Given the description of an element on the screen output the (x, y) to click on. 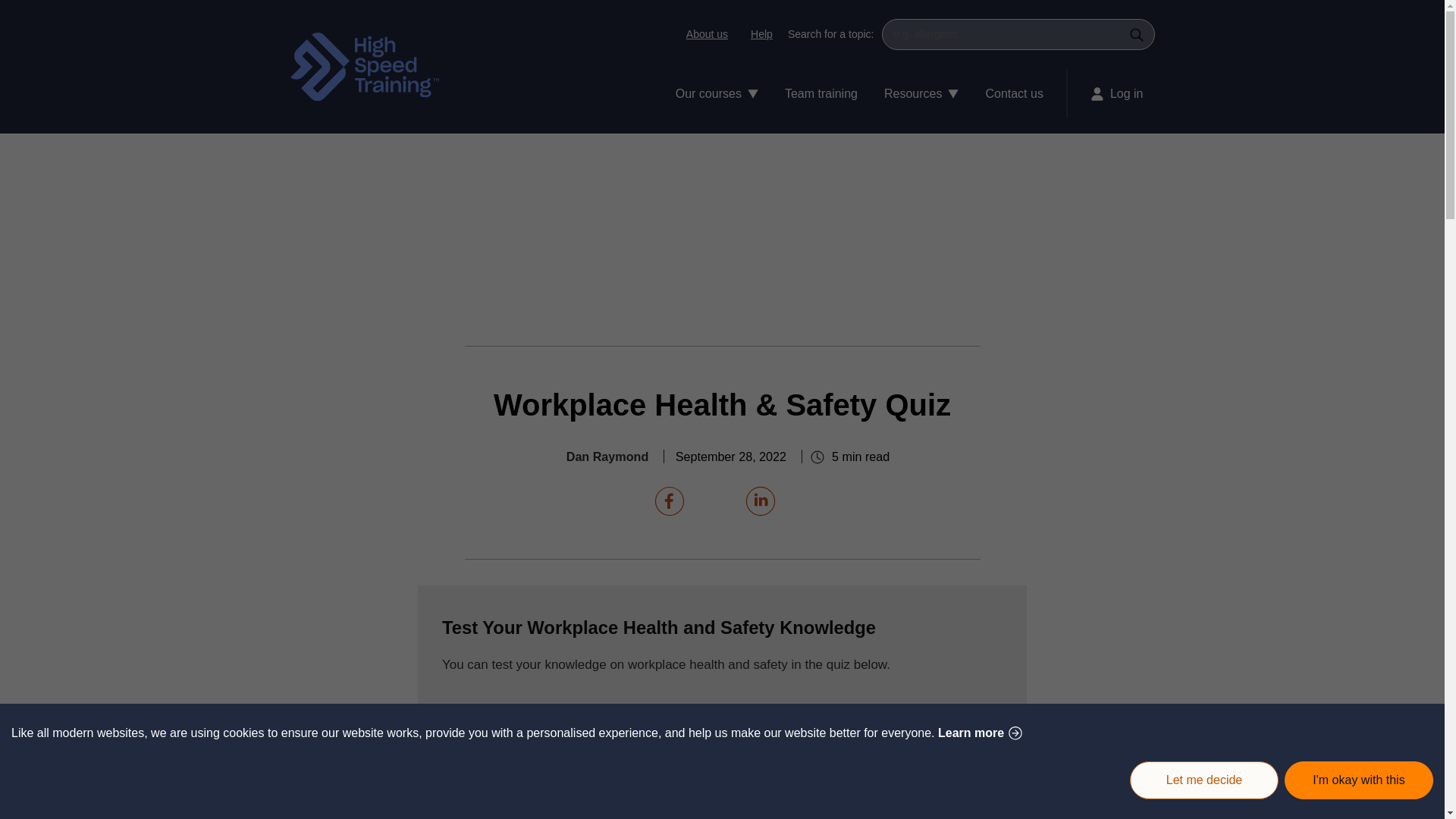
Dan Raymond (607, 456)
Help (757, 33)
Log in (1110, 92)
Posts by Dan Raymond (607, 456)
Contact us (1019, 92)
Team training (821, 92)
About us (706, 33)
